Given the description of an element on the screen output the (x, y) to click on. 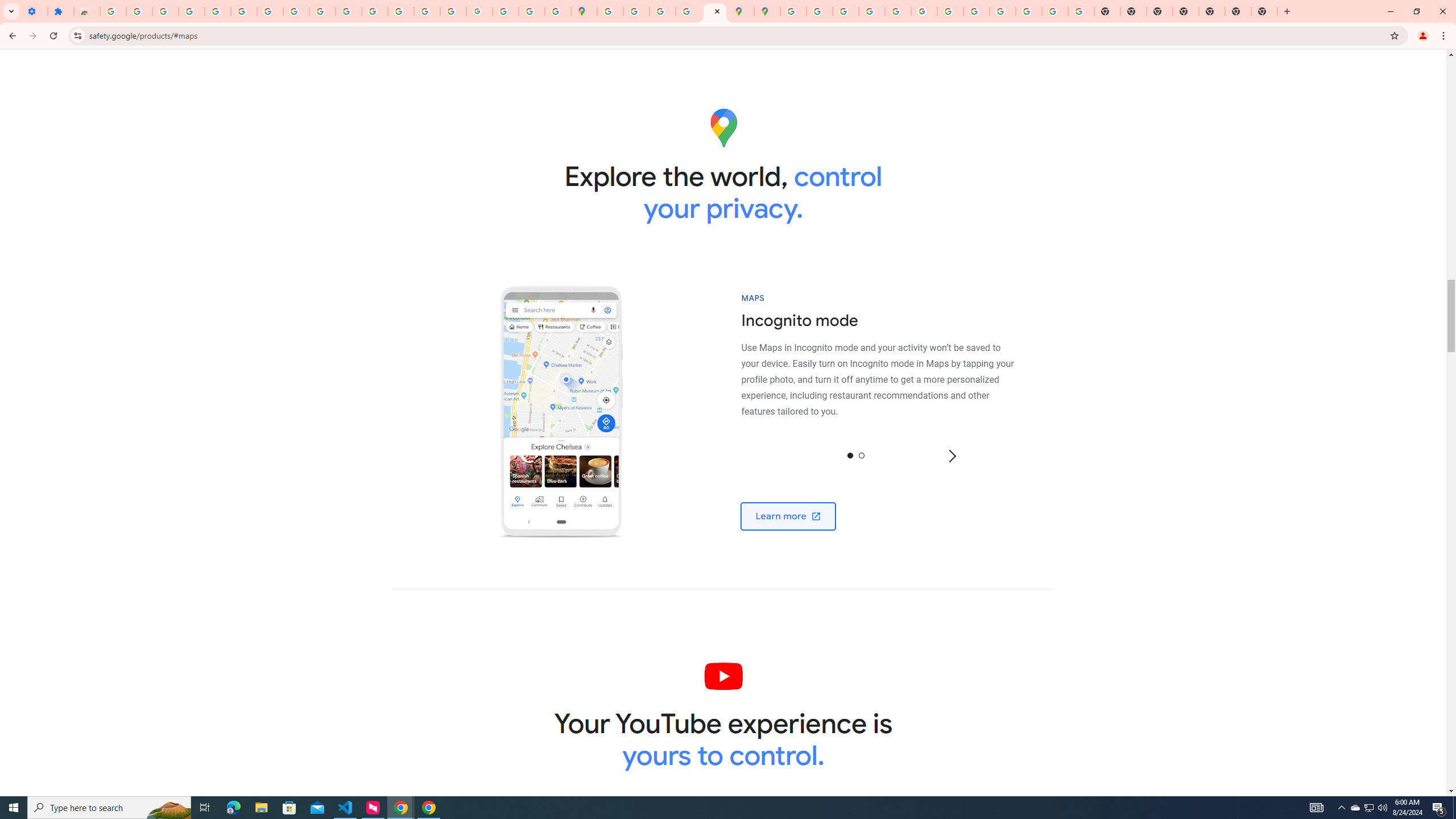
New Tab (1238, 11)
Settings - On startup (34, 11)
Google Account (296, 11)
New Tab (1185, 11)
